Given the description of an element on the screen output the (x, y) to click on. 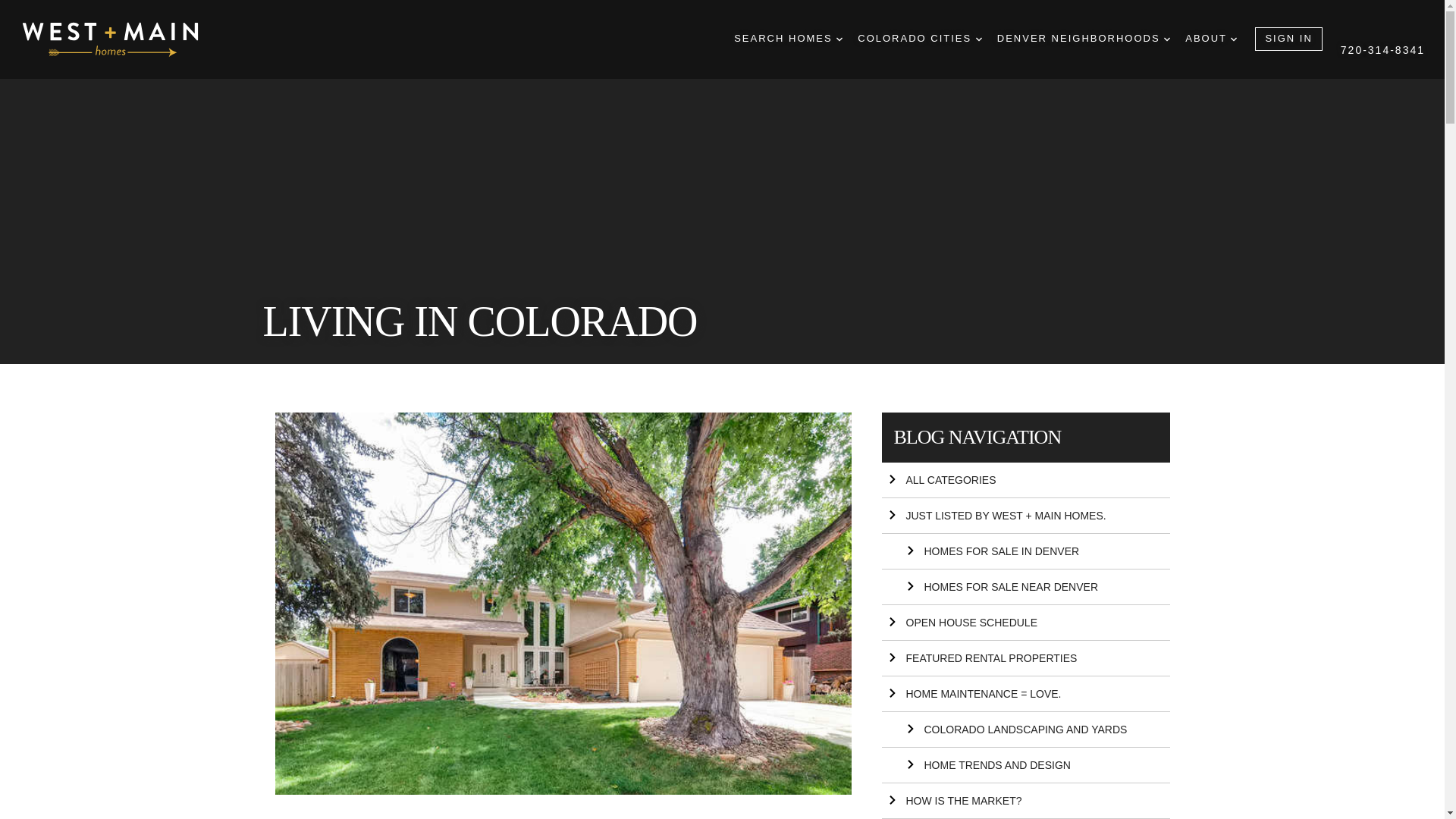
COLORADO CITIES DROPDOWN ARROW (919, 38)
DROPDOWN ARROW (1166, 39)
DROPDOWN ARROW (839, 39)
DROPDOWN ARROW (978, 39)
DROPDOWN ARROW (1233, 39)
SEARCH HOMES DROPDOWN ARROW (788, 38)
